Given the description of an element on the screen output the (x, y) to click on. 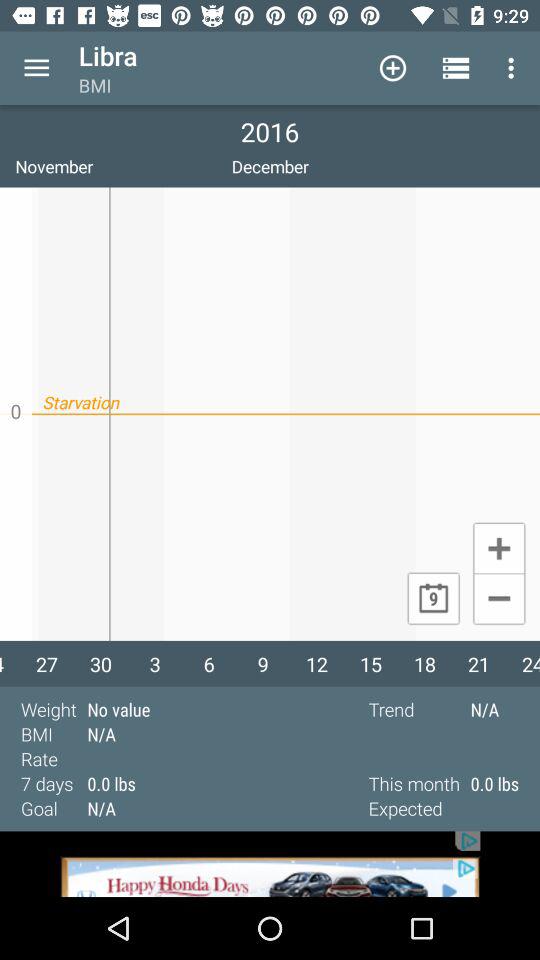
zoom in the grape (498, 547)
